Given the description of an element on the screen output the (x, y) to click on. 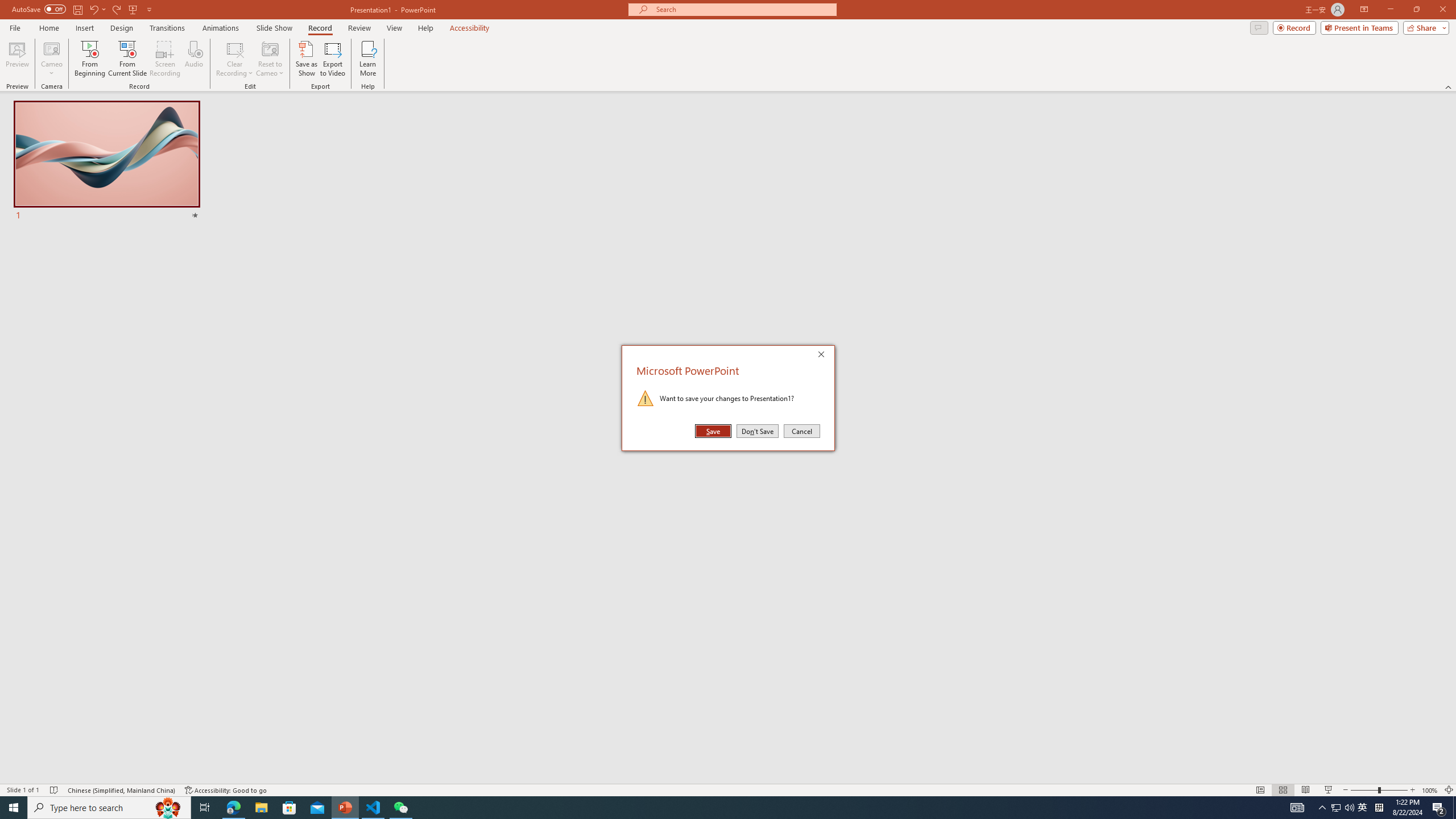
Warning Icon (645, 398)
Screen Recording (165, 58)
